Given the description of an element on the screen output the (x, y) to click on. 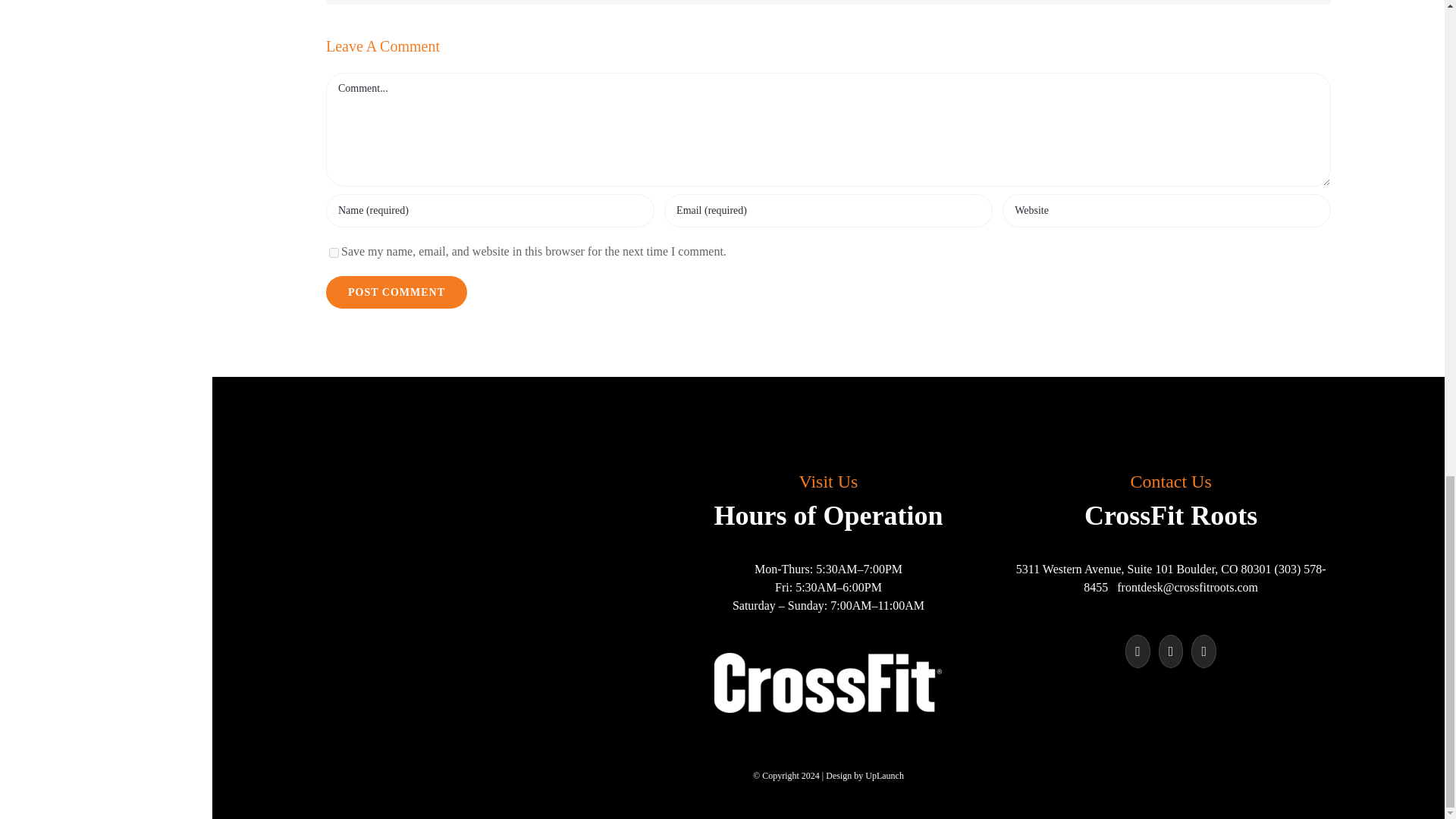
Post Comment (396, 292)
Instagram (1170, 651)
YouTube (1203, 651)
yes (334, 252)
Post Comment (396, 292)
Facebook (1137, 651)
